Given the description of an element on the screen output the (x, y) to click on. 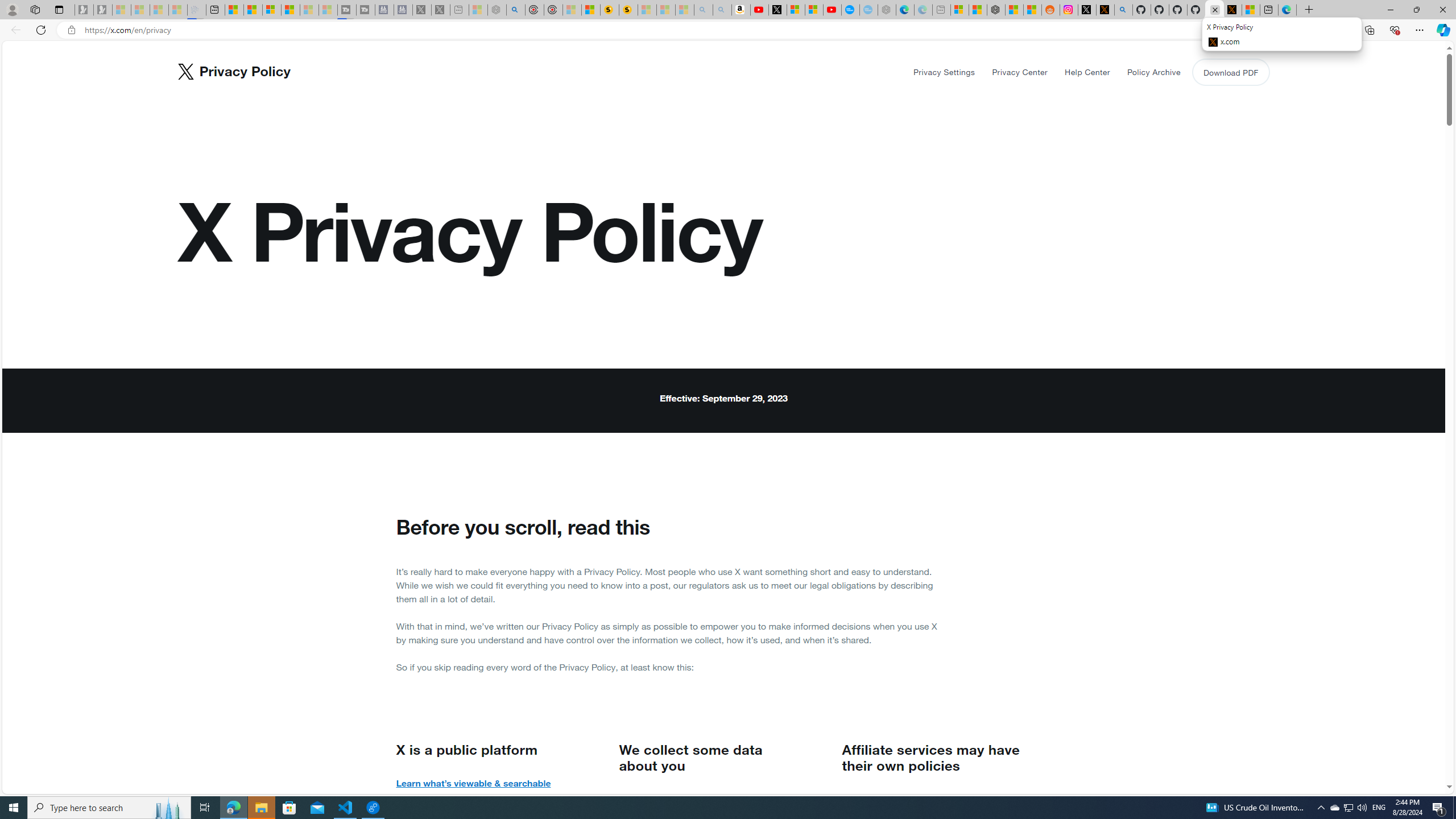
amazon - Search - Sleeping (702, 9)
X Privacy Policy (1232, 9)
Nordace - Nordace has arrived Hong Kong - Sleeping (887, 9)
Shopping in Microsoft Edge (1245, 29)
Policy Archive (1153, 71)
